Given the description of an element on the screen output the (x, y) to click on. 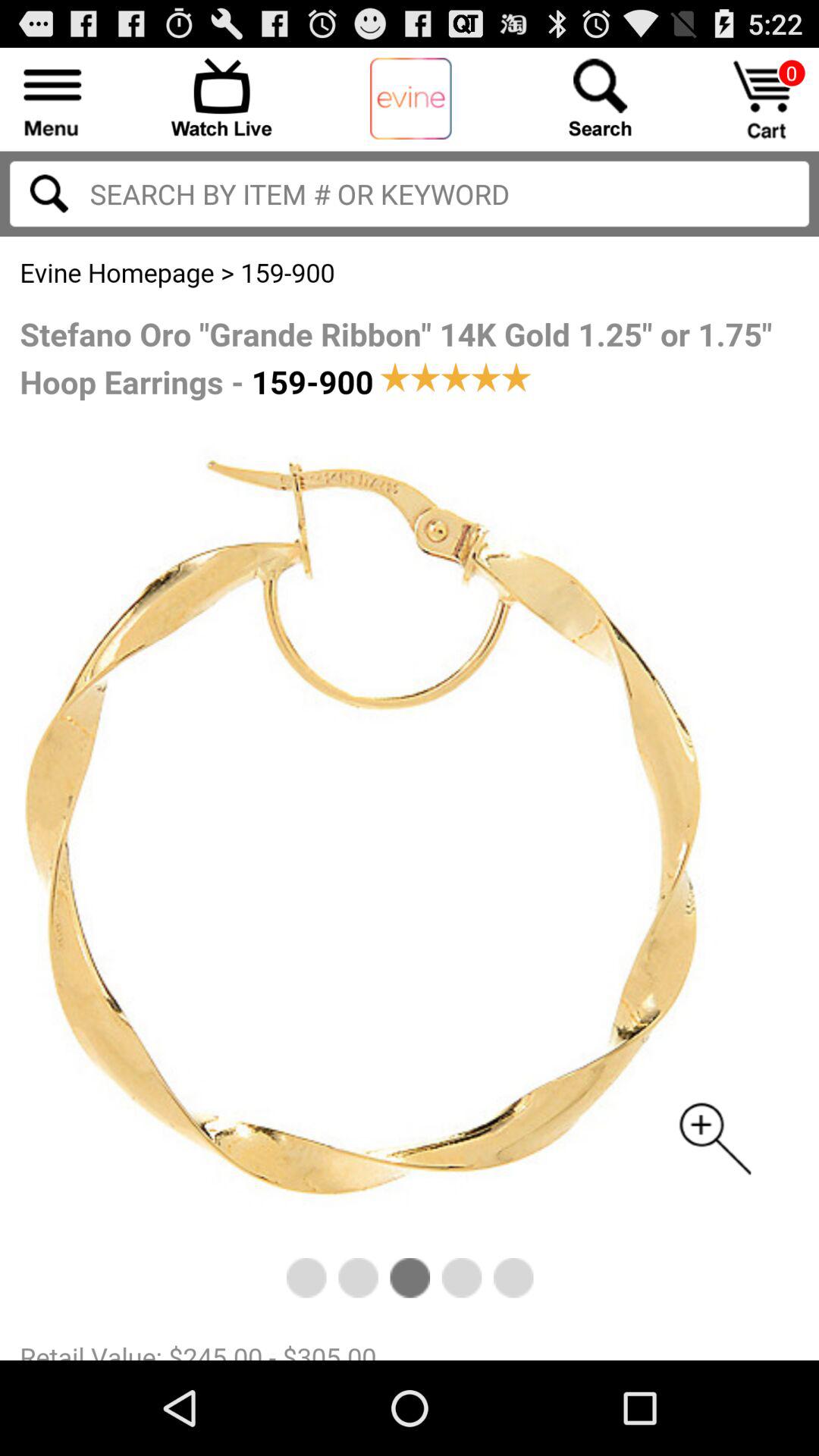
search for an item (599, 97)
